Given the description of an element on the screen output the (x, y) to click on. 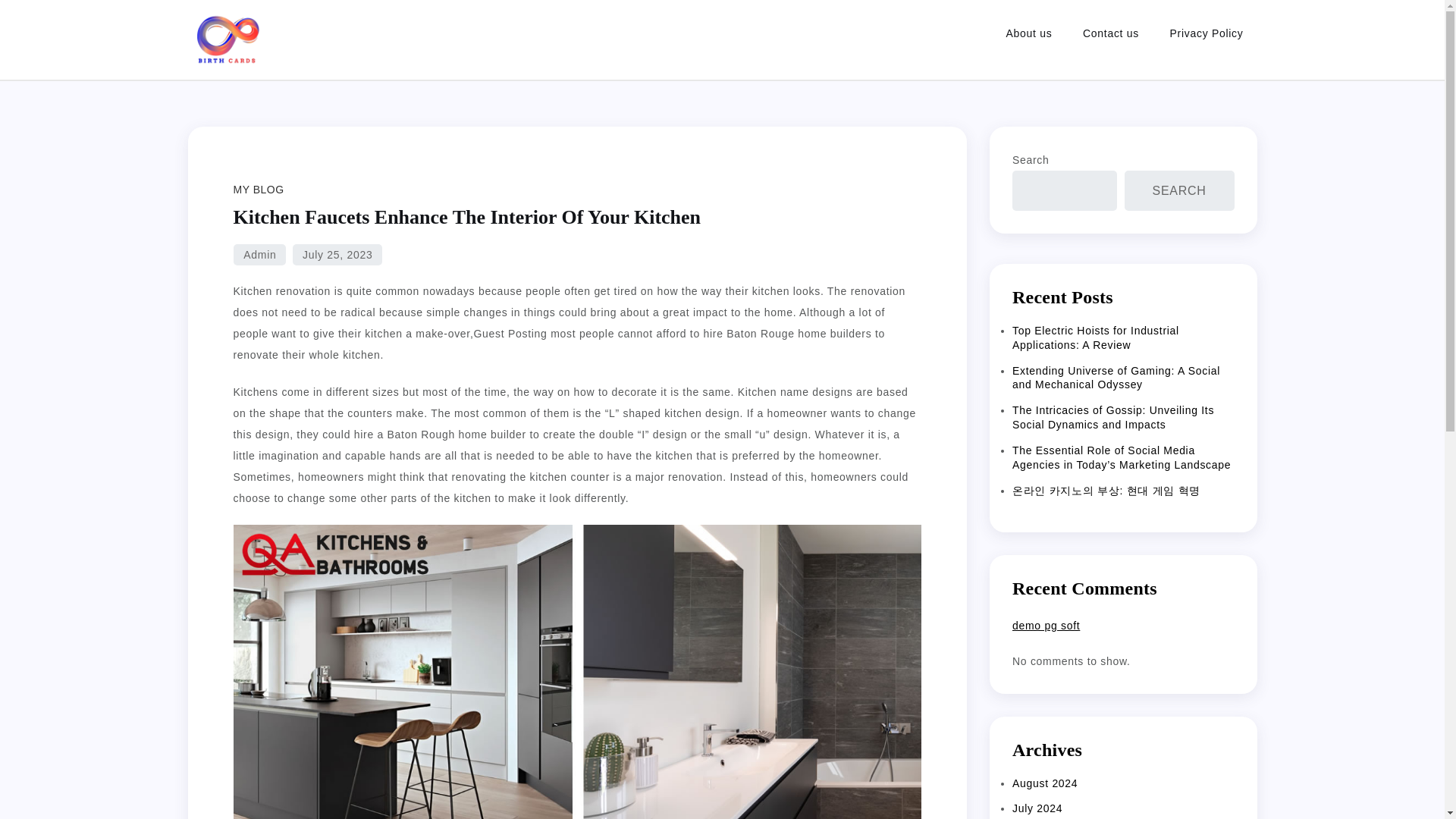
Privacy Policy (1206, 33)
Admin (258, 254)
Contact us (1110, 33)
August 2024 (1044, 783)
demo pg soft (1045, 625)
Top Electric Hoists for Industrial Applications: A Review (1095, 337)
July 25, 2023 (336, 254)
About us (1028, 33)
